Given the description of an element on the screen output the (x, y) to click on. 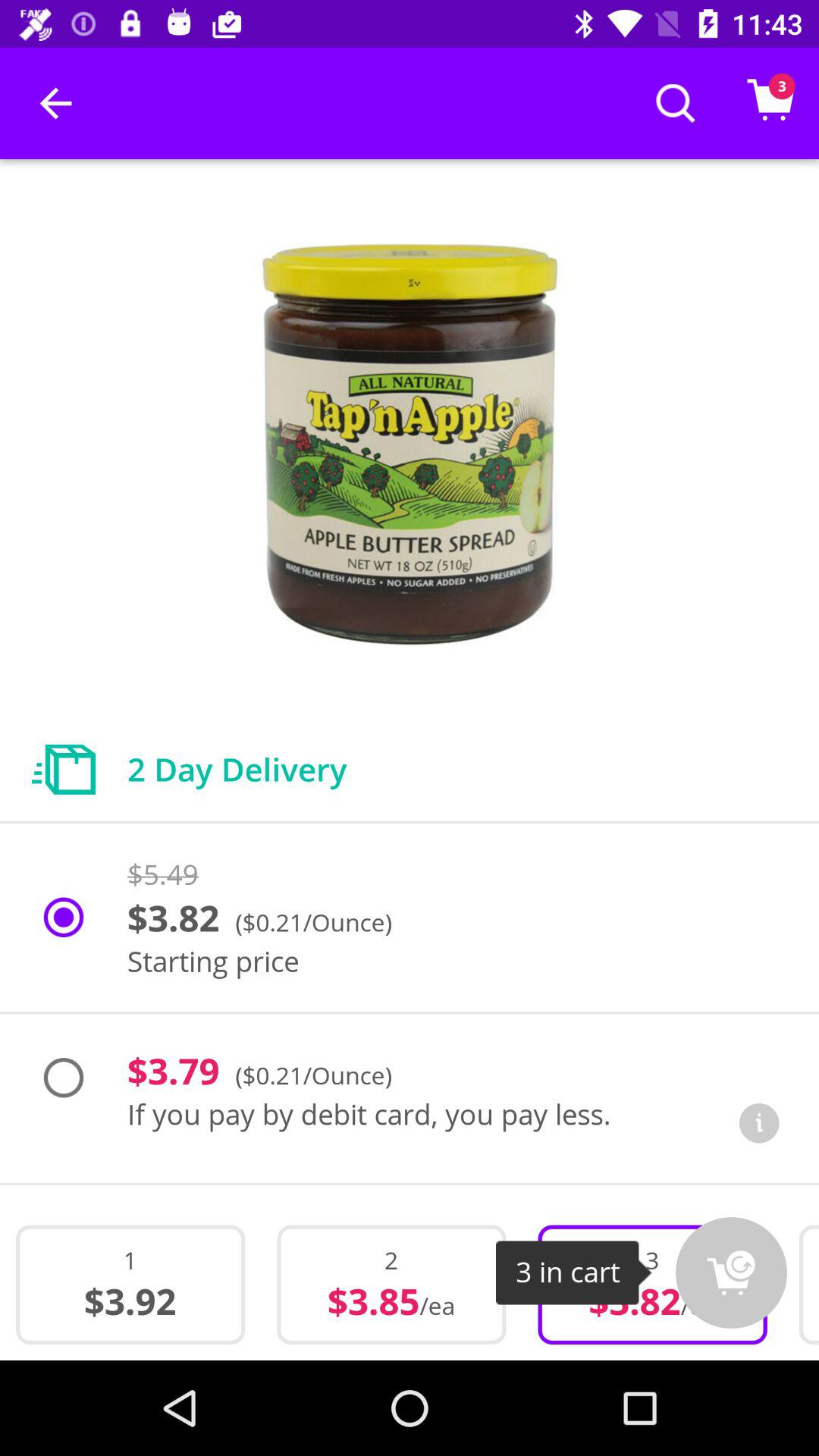
click icon to the right of if you pay icon (759, 1123)
